Given the description of an element on the screen output the (x, y) to click on. 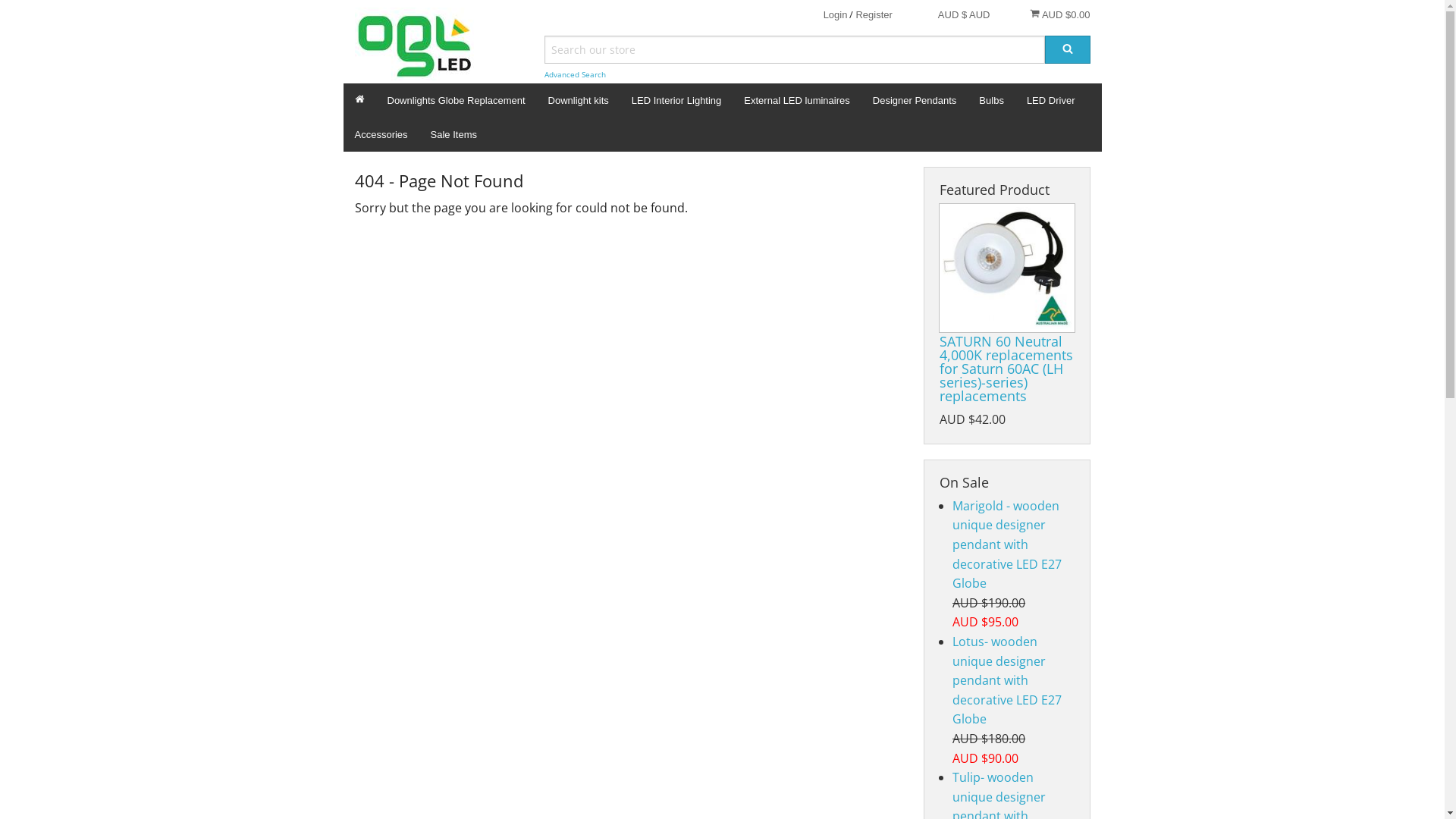
Register Element type: text (873, 14)
Advanced Search Element type: text (574, 74)
Login Element type: text (835, 14)
Search Element type: hover (1067, 49)
Home Element type: hover (358, 100)
Downlight kits Element type: text (578, 100)
Designer Pendants Element type: text (914, 100)
Accessories Element type: text (380, 134)
Sale Items Element type: text (453, 134)
Bulbs Element type: text (991, 100)
Search Element type: text (1067, 49)
LED Driver Element type: text (1050, 100)
AUD $0.00 Element type: text (1059, 14)
External LED luminaires Element type: text (796, 100)
Downlights Globe Replacement Element type: text (456, 100)
LED Interior Lighting Element type: text (676, 100)
